Given the description of an element on the screen output the (x, y) to click on. 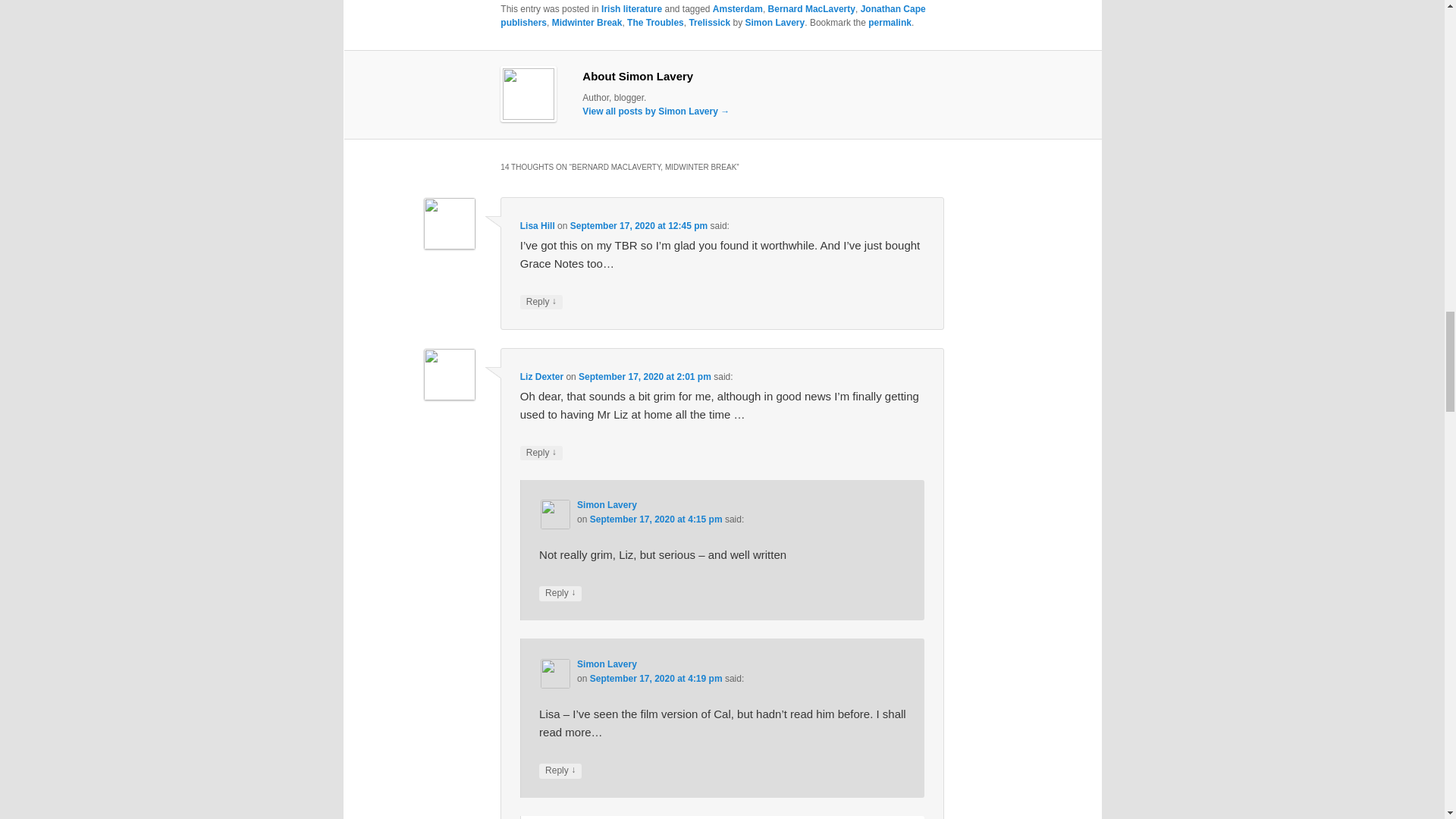
The Troubles (655, 22)
Bernard MacLaverty (812, 9)
permalink (889, 22)
September 17, 2020 at 4:15 pm (655, 519)
Liz Dexter (541, 376)
Irish literature (631, 9)
Permalink to Bernard MacLaverty, Midwinter Break (889, 22)
Simon Lavery (606, 664)
September 17, 2020 at 12:45 pm (638, 225)
Midwinter Break (587, 22)
